Given the description of an element on the screen output the (x, y) to click on. 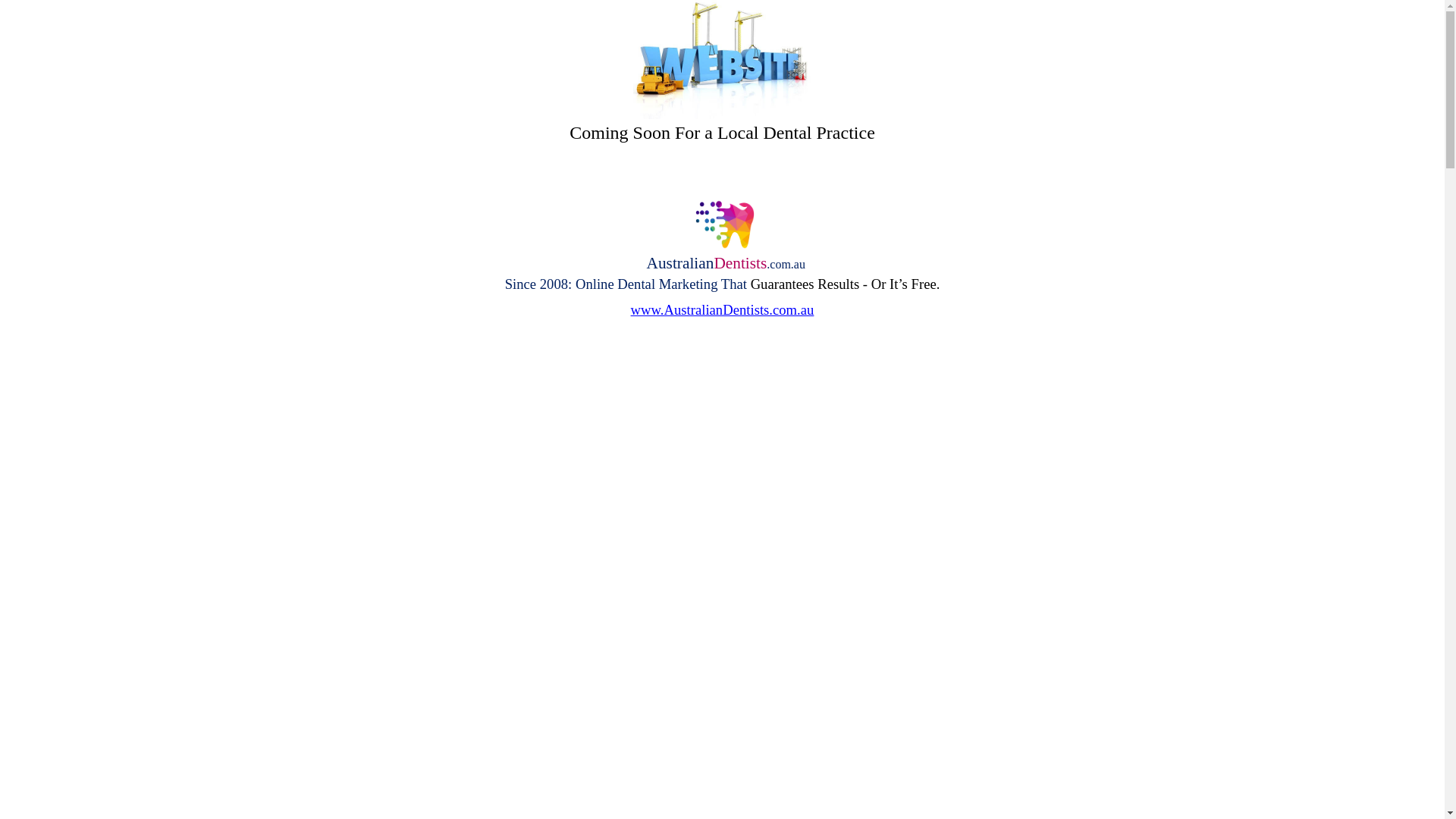
  Element type: text (2, 156)
  AustralianDentists.com.au Element type: text (722, 264)
  Element type: text (722, 182)
  Element type: text (722, 296)
www.AustralianDentists.com.au Element type: text (722, 310)
  Element type: text (721, 322)
  Element type: text (1, 257)
Soon For a Local Dental Practice Element type: text (751, 134)
